Given the description of an element on the screen output the (x, y) to click on. 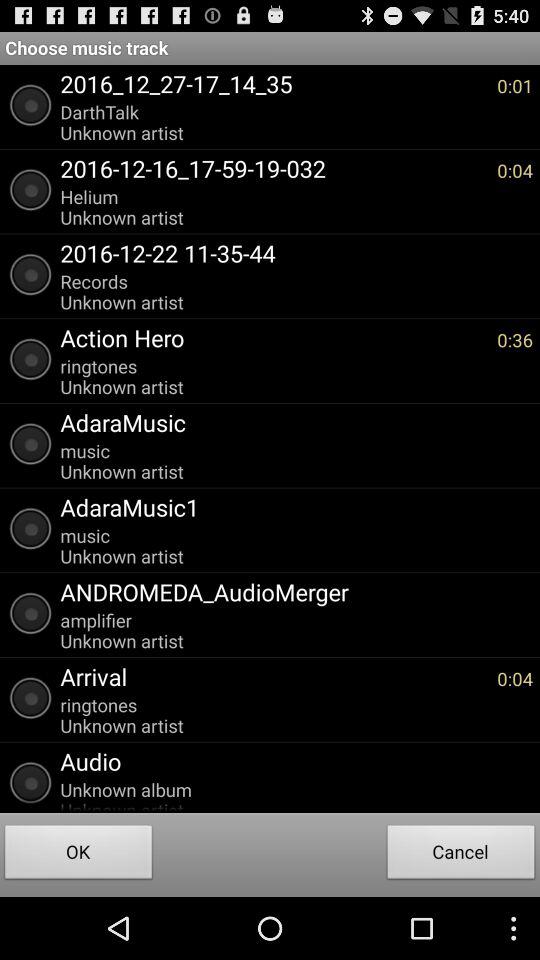
jump until cancel (461, 854)
